Given the description of an element on the screen output the (x, y) to click on. 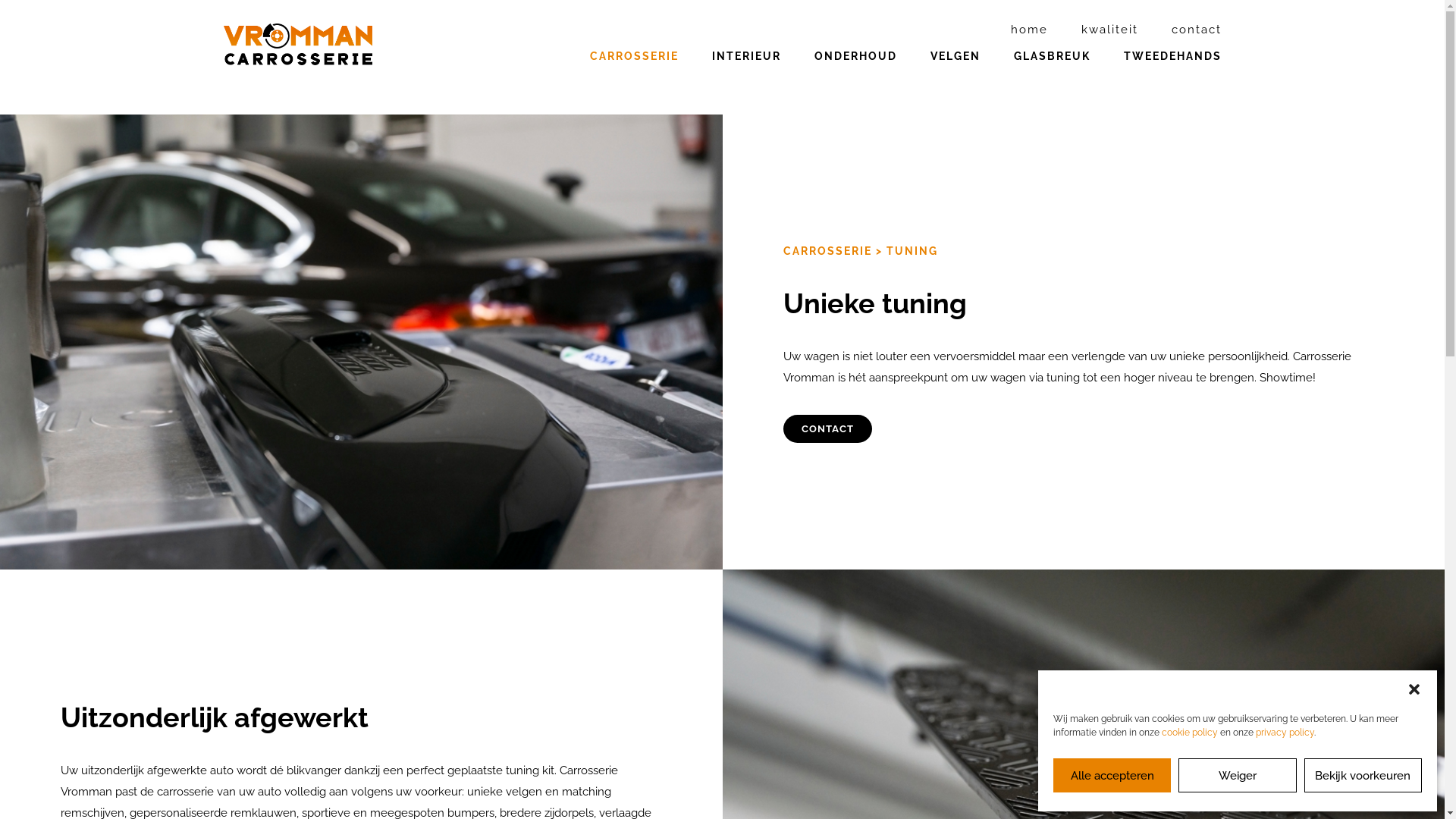
VELGEN Element type: text (954, 78)
ONDERHOUD Element type: text (855, 78)
Alle accepteren Element type: text (1111, 775)
CARROSSERIE Element type: text (633, 78)
cookie policy Element type: text (1189, 732)
TWEEDEHANDS Element type: text (1172, 78)
CARROSSERIE Element type: text (826, 250)
Weiger Element type: text (1236, 775)
GLASBREUK Element type: text (1050, 78)
Carrosserie Vromman Element type: hover (326, 43)
privacy policy Element type: text (1284, 732)
CONTACT Element type: text (826, 428)
INTERIEUR Element type: text (745, 78)
Bekijk voorkeuren Element type: text (1362, 775)
